Given the description of an element on the screen output the (x, y) to click on. 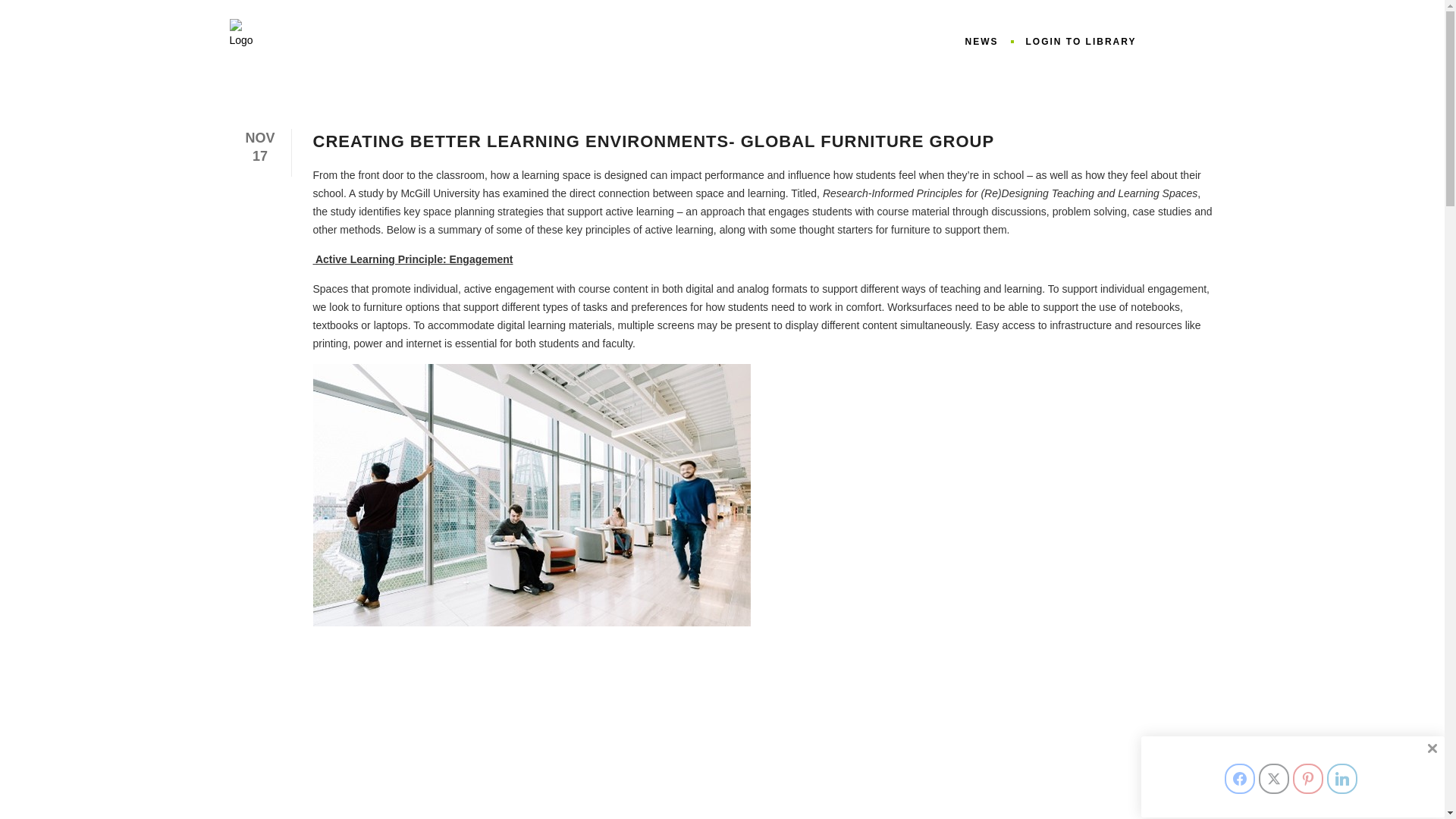
Share on LinkedIn (1341, 778)
Share on Facebook (1239, 778)
Share on Pinterest (1307, 778)
Share on Twitter (1273, 778)
LOGIN TO LIBRARY (1080, 41)
